Given the description of an element on the screen output the (x, y) to click on. 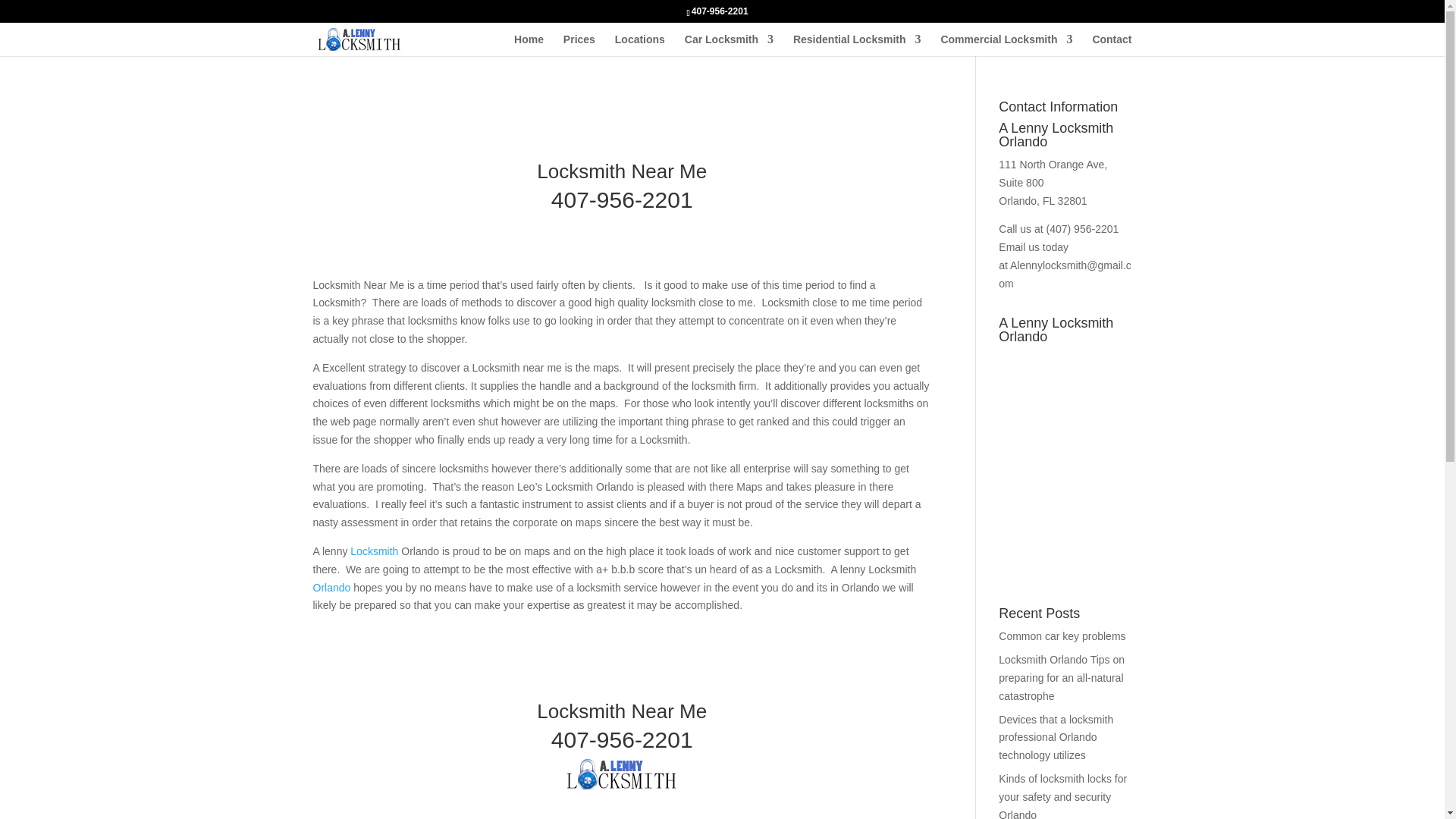
Home (528, 45)
Residential Locksmith (857, 45)
Orlando (333, 587)
407-956-2201 (622, 199)
407-956-2201 (622, 739)
Car Locksmith (728, 45)
Locksmith (373, 551)
Locations (639, 45)
Contact (1111, 45)
Commercial Locksmith (1005, 45)
Prices (579, 45)
Common car key problems (1061, 635)
